Given the description of an element on the screen output the (x, y) to click on. 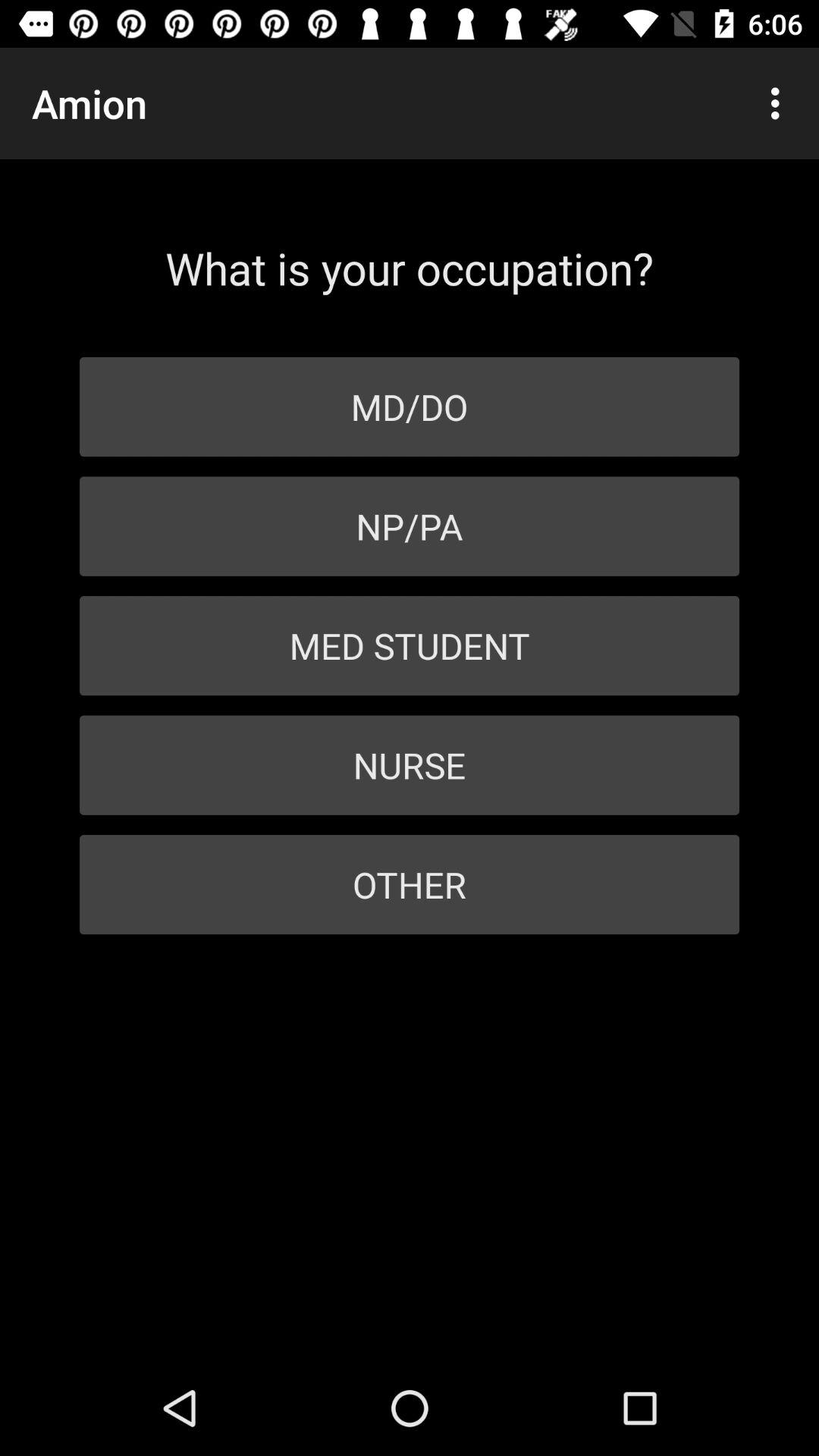
turn off the item below the np/pa item (409, 645)
